Given the description of an element on the screen output the (x, y) to click on. 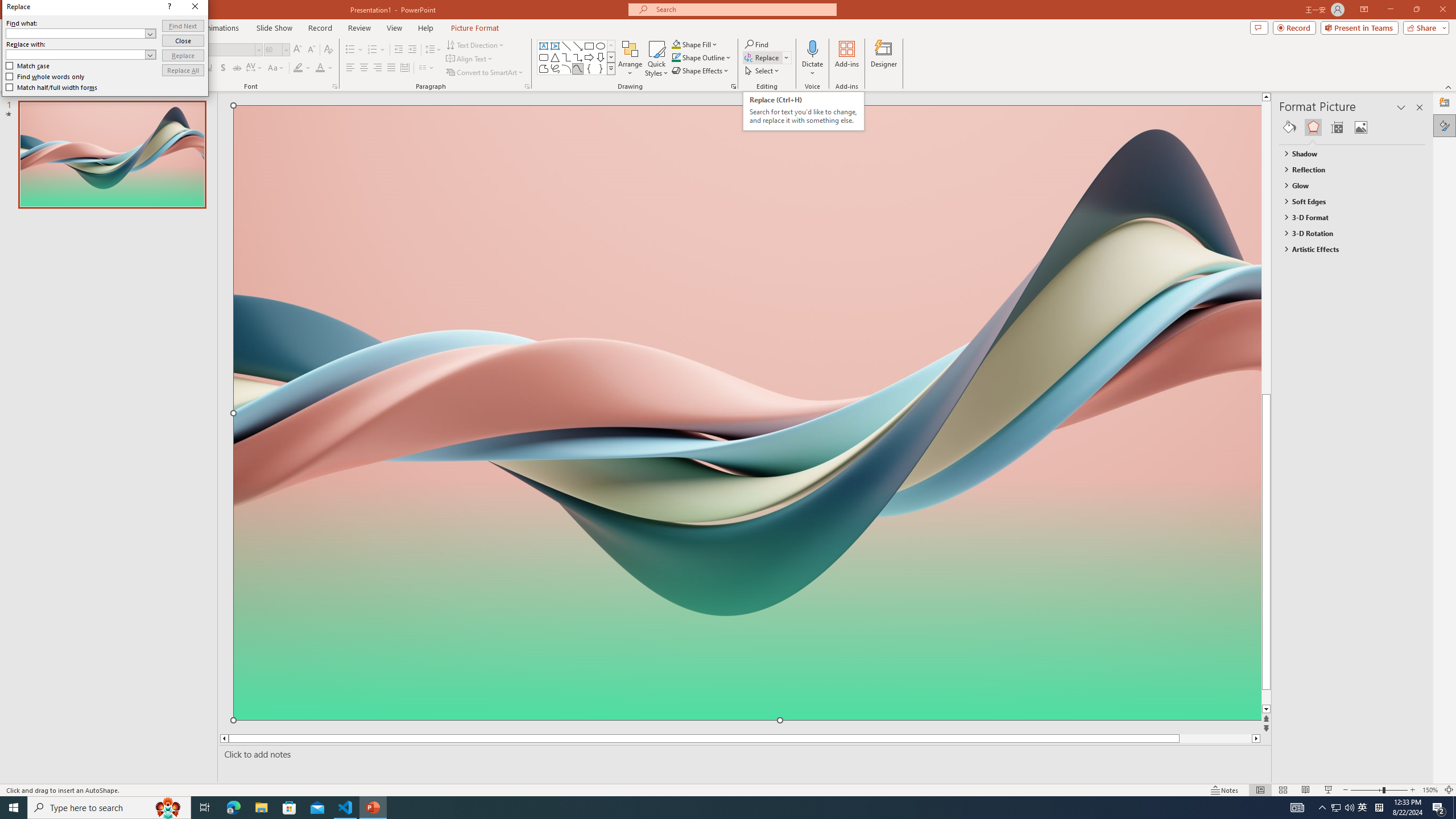
Replace with (75, 53)
3-D Rotation (1347, 232)
Connector: Elbow Arrow (577, 57)
Tray Input Indicator - Chinese (Simplified, China) (1378, 807)
Open (150, 53)
Numbering (372, 49)
Find whole words only (45, 76)
Left Brace (589, 68)
Replace... (762, 56)
Replace... (767, 56)
Replace with (80, 54)
Font Color Red (320, 67)
View (395, 28)
Q2790: 100% (1349, 807)
